Given the description of an element on the screen output the (x, y) to click on. 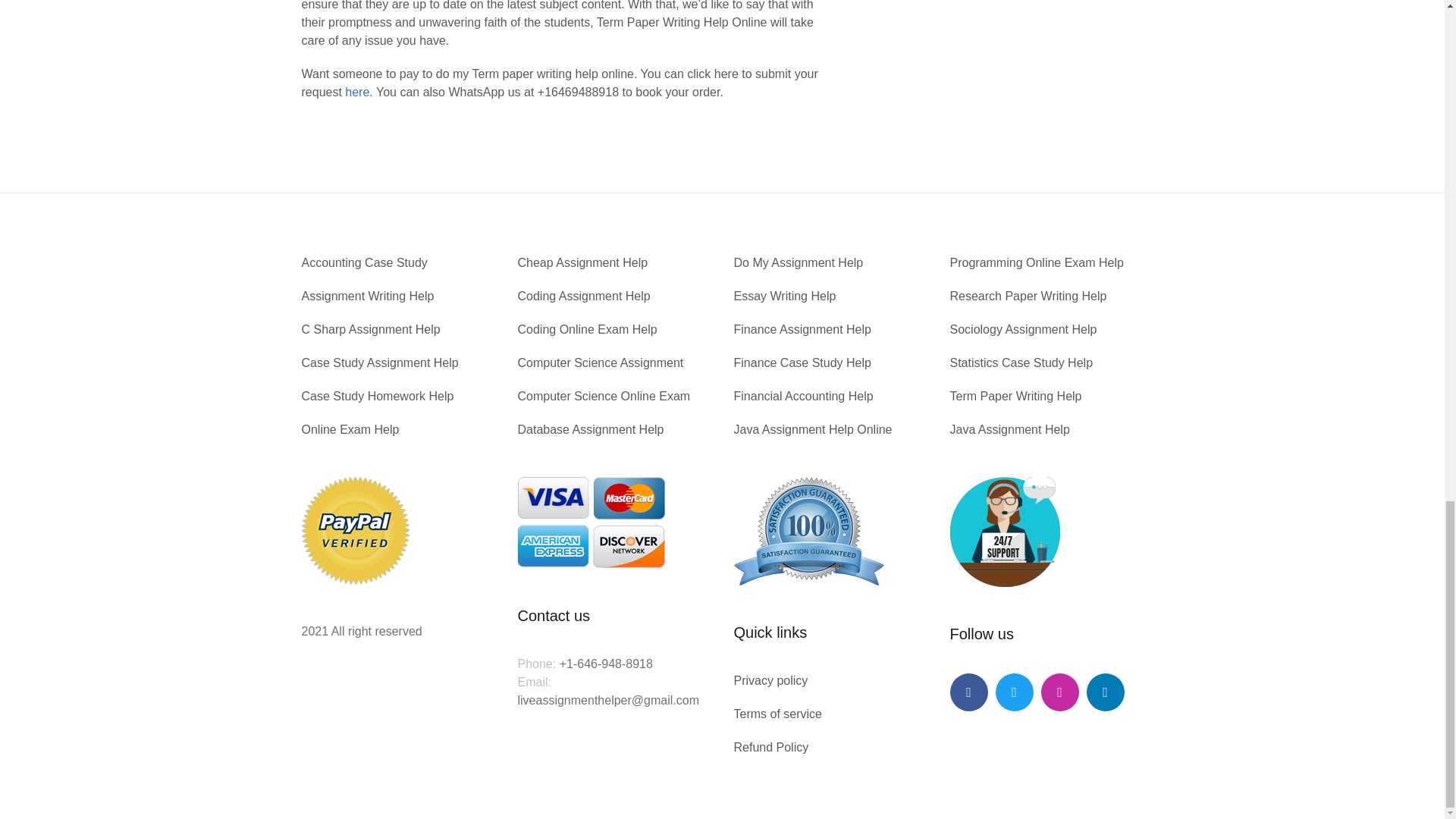
Computer Science Online Exam (603, 395)
Case Study Assignment Help (379, 362)
Coding Online Exam Help (586, 328)
Case Study Homework Help (377, 395)
here. (358, 91)
C Sharp Assignment Help (371, 328)
Online Exam Help (349, 429)
Assignment Writing Help (367, 295)
Coding Assignment Help (582, 295)
Accounting Case Study (364, 262)
